Given the description of an element on the screen output the (x, y) to click on. 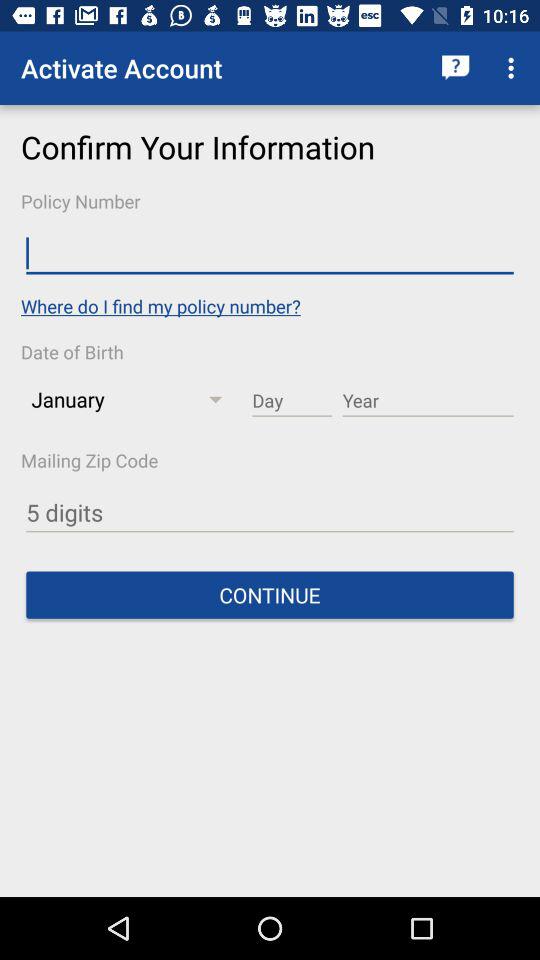
enter year (428, 401)
